Given the description of an element on the screen output the (x, y) to click on. 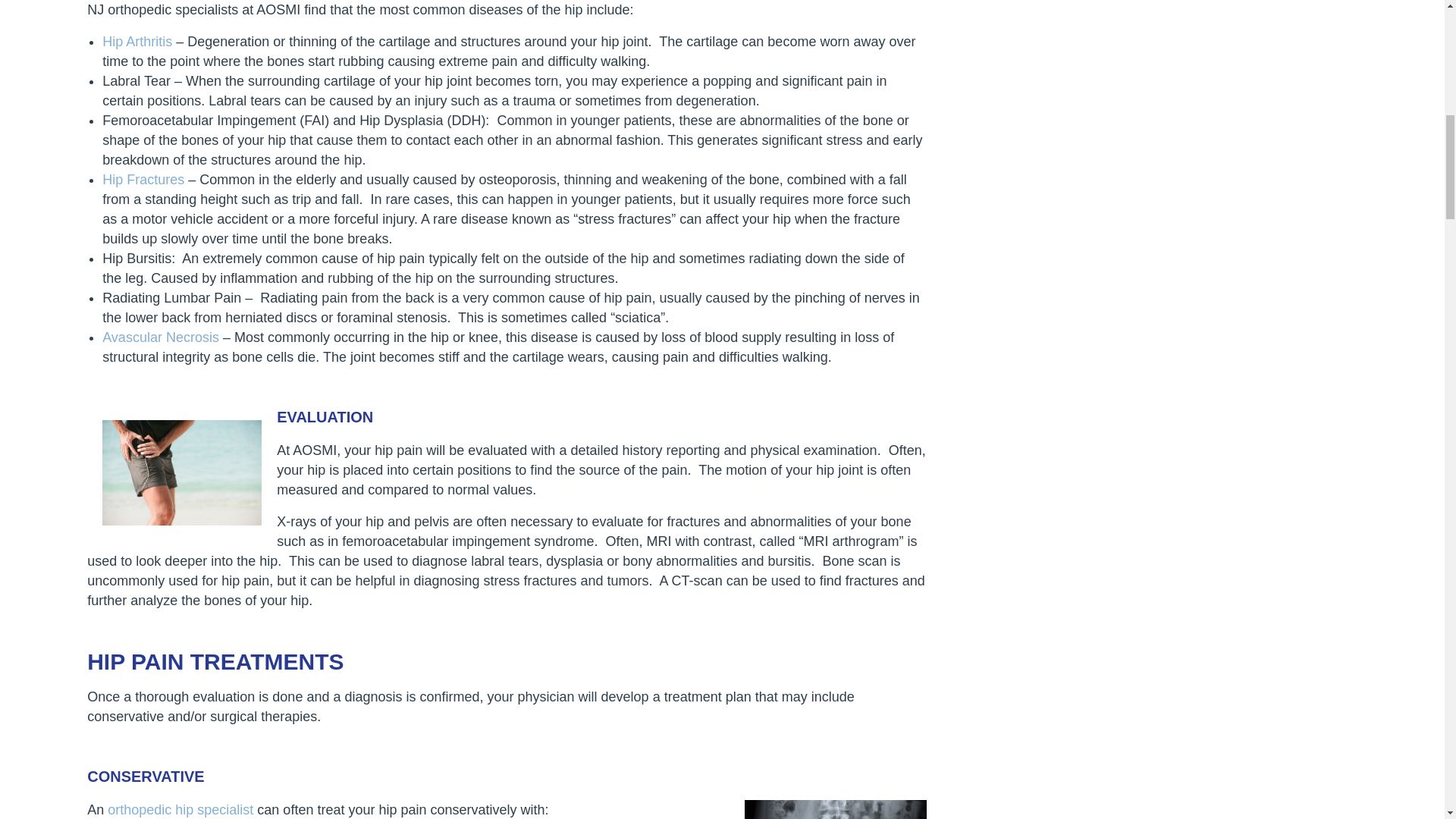
Fracture Care (142, 179)
Avascular Necrosis (160, 337)
Hip Arthritis and Hip Replacement (136, 41)
Professionals (182, 809)
